Given the description of an element on the screen output the (x, y) to click on. 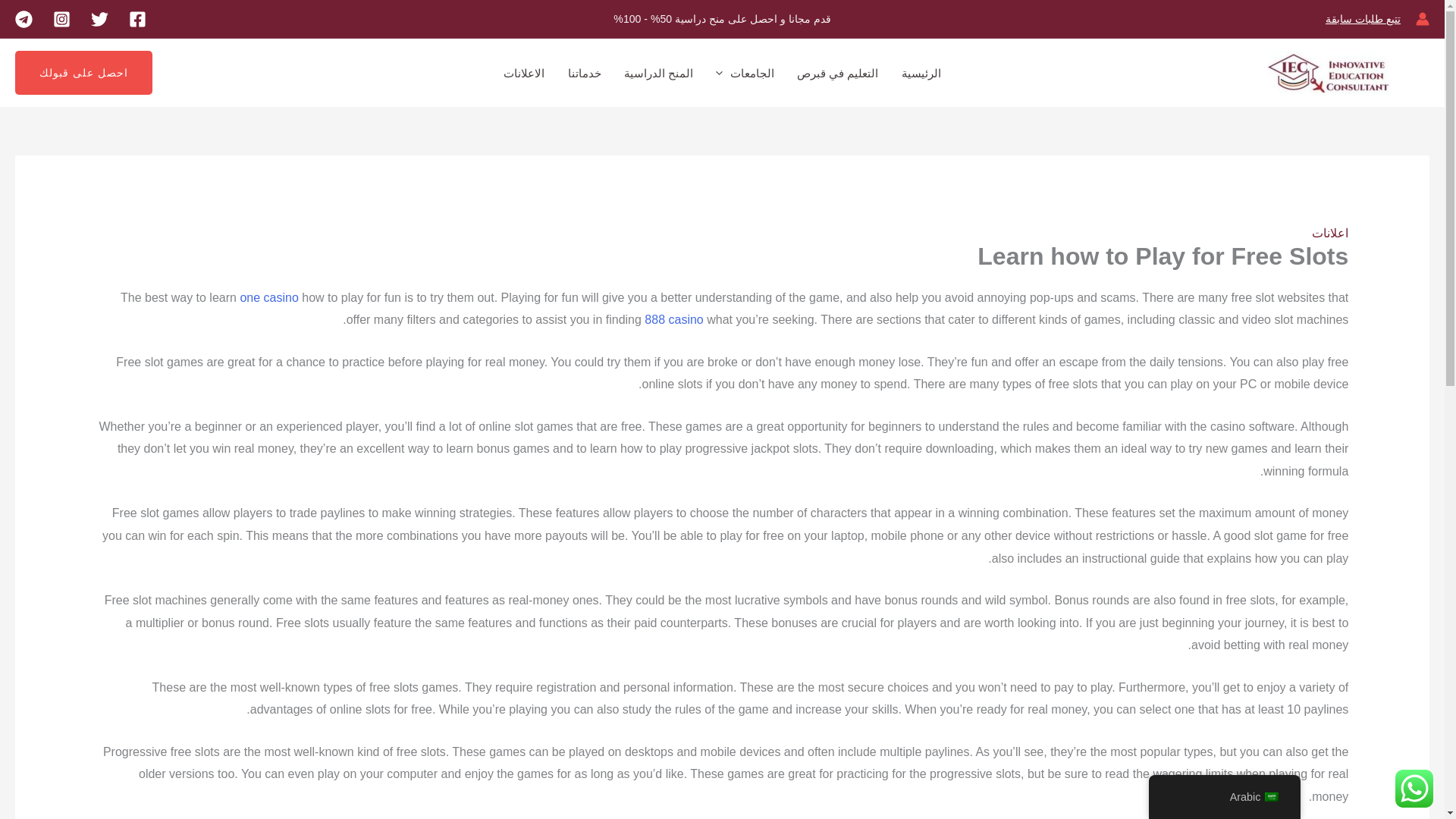
Arabic (1271, 796)
one casino (269, 297)
888 casino (674, 318)
